Given the description of an element on the screen output the (x, y) to click on. 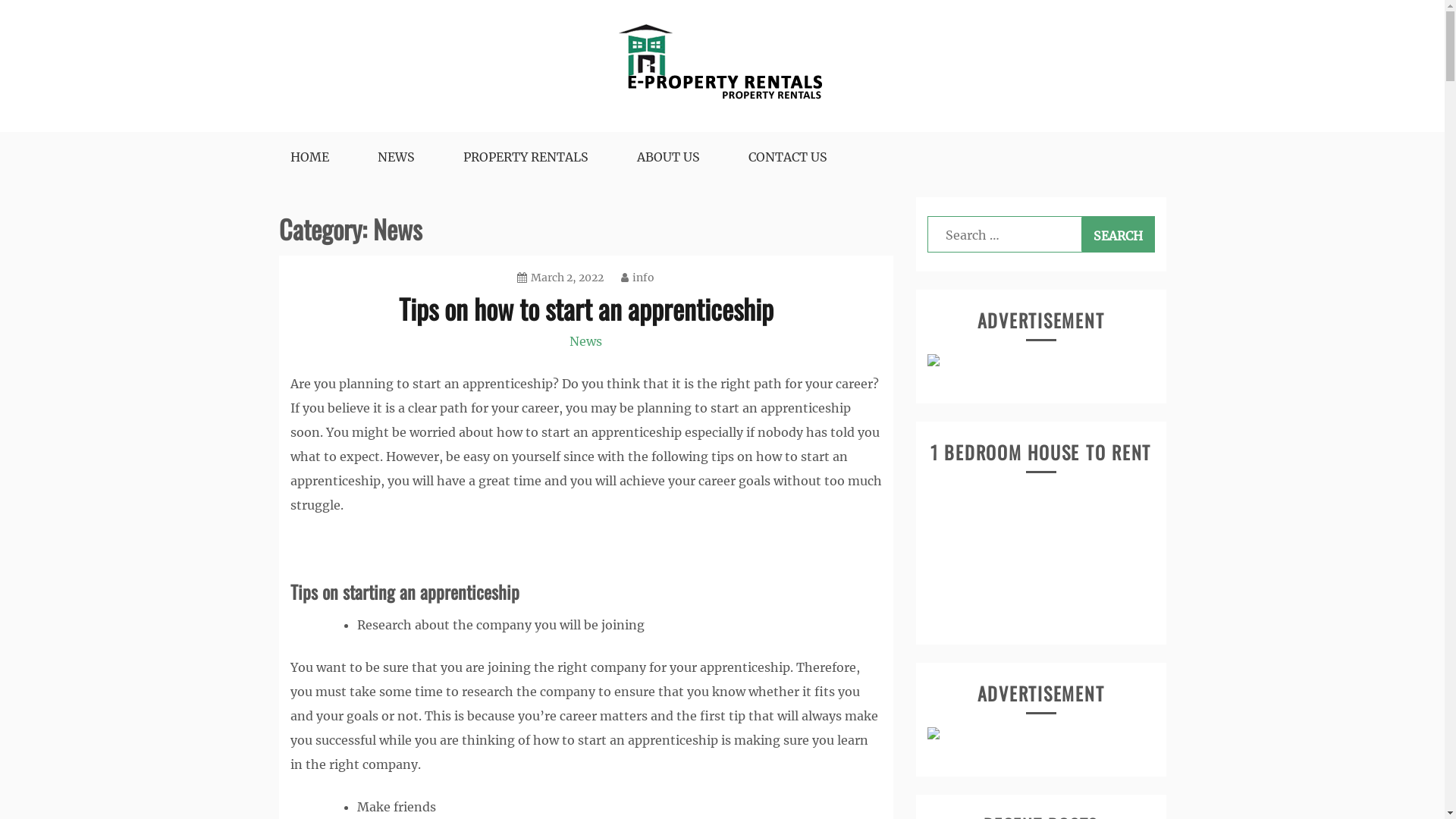
info Element type: text (637, 277)
e-Property Rentals Element type: text (360, 140)
Search Element type: text (1117, 234)
HOME Element type: text (308, 156)
March 2, 2022 Element type: text (560, 277)
NEWS Element type: text (395, 156)
PROPERTY RENTALS Element type: text (524, 156)
ABOUT US Element type: text (668, 156)
News Element type: text (585, 340)
Tips on how to start an apprenticeship Element type: text (585, 308)
CONTACT US Element type: text (786, 156)
